Given the description of an element on the screen output the (x, y) to click on. 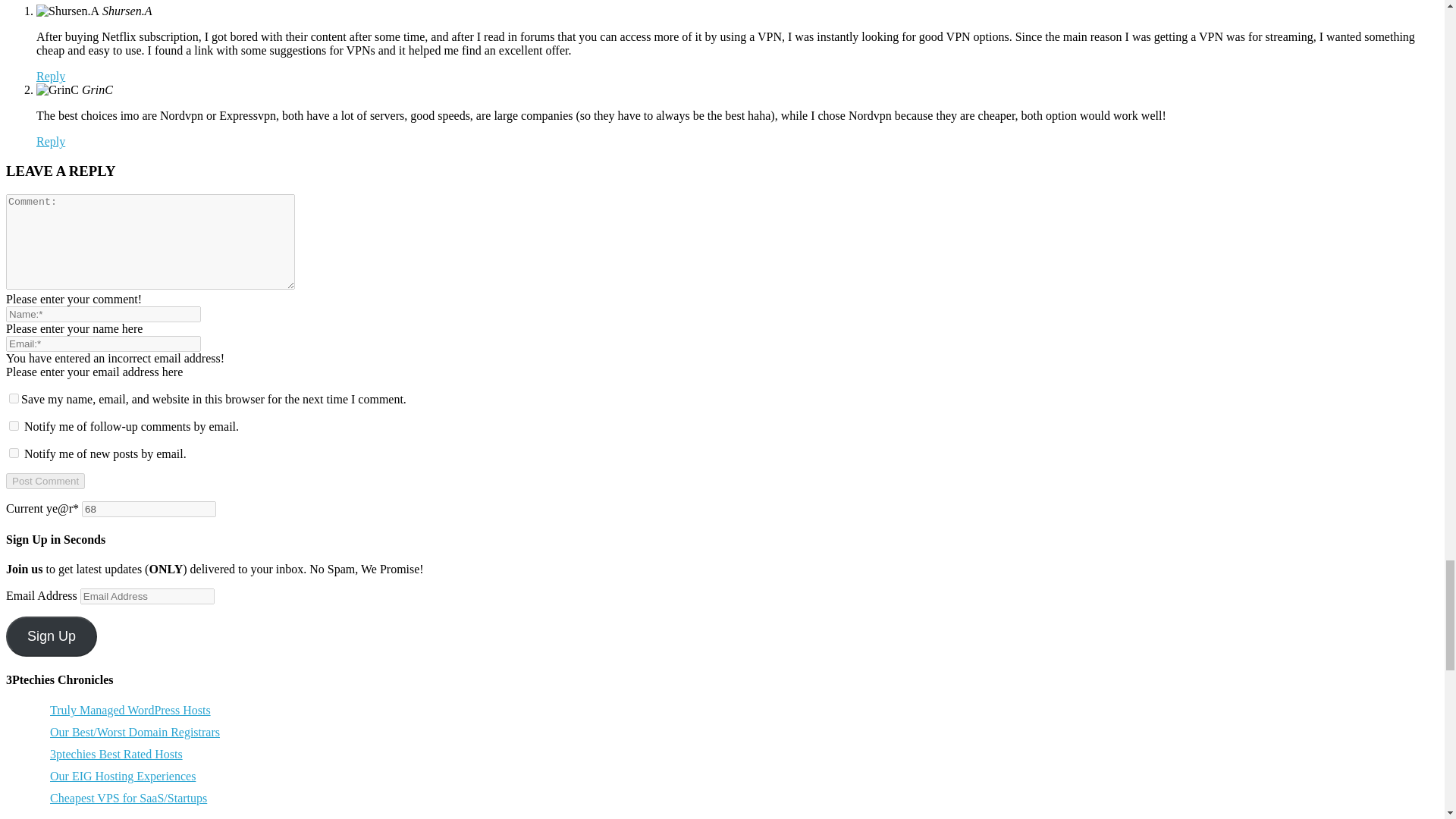
subscribe (13, 425)
subscribe (13, 452)
yes (13, 398)
Post Comment (44, 480)
68 (148, 508)
